Given the description of an element on the screen output the (x, y) to click on. 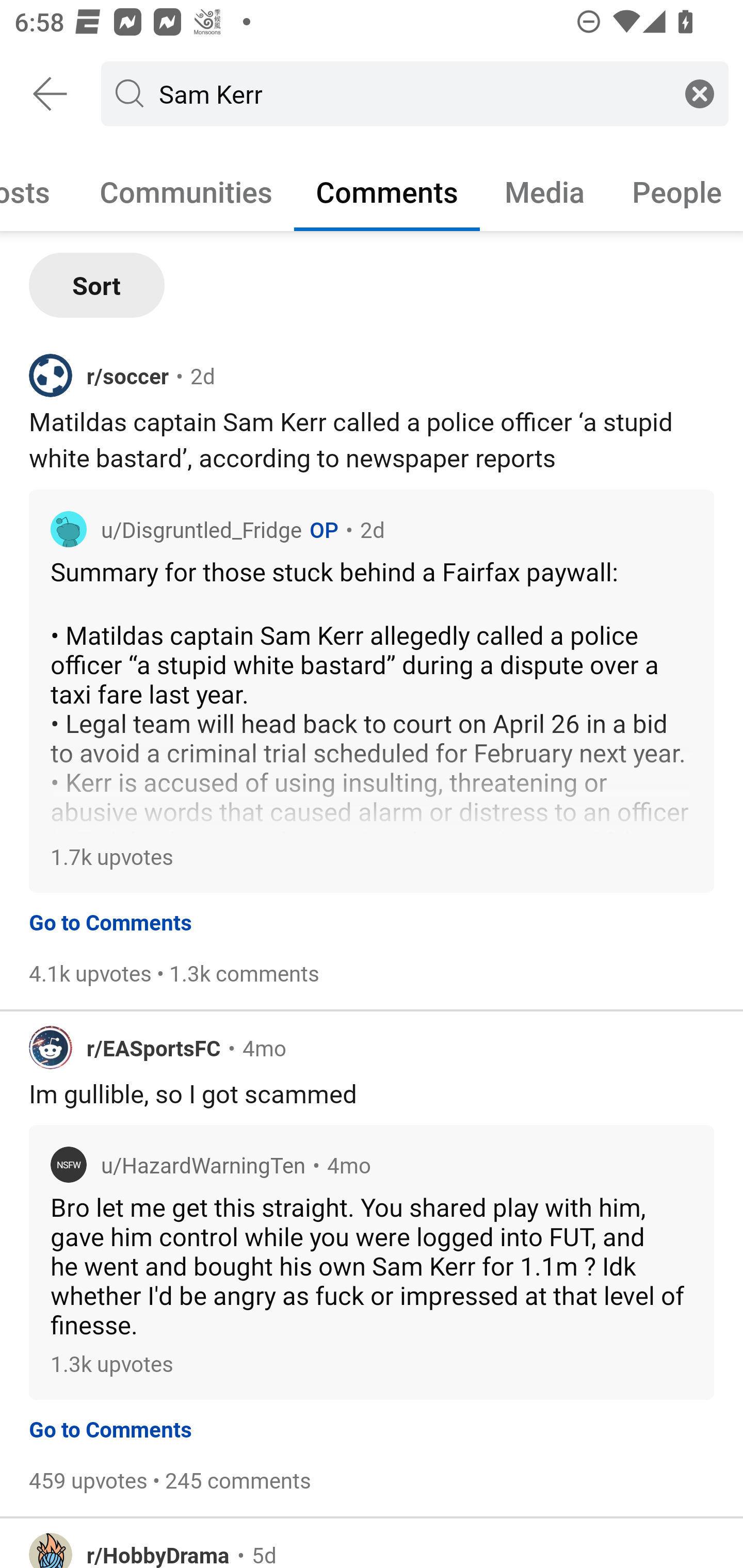
Back (50, 93)
Sam Kerr (410, 93)
Clear search (699, 93)
Communities (186, 191)
Media (544, 191)
People (676, 191)
Sort Sort by Most relevant (96, 285)
u/Disgruntled_Fridge (201, 520)
Go to Comments (110, 918)
r/EASportsFC (153, 1041)
NSFW (68, 1164)
u/HazardWarningTen (203, 1155)
Go to Comments (110, 1426)
r/HobbyDrama (158, 1539)
r/HobbyDrama • 5d (371, 1542)
